Given the description of an element on the screen output the (x, y) to click on. 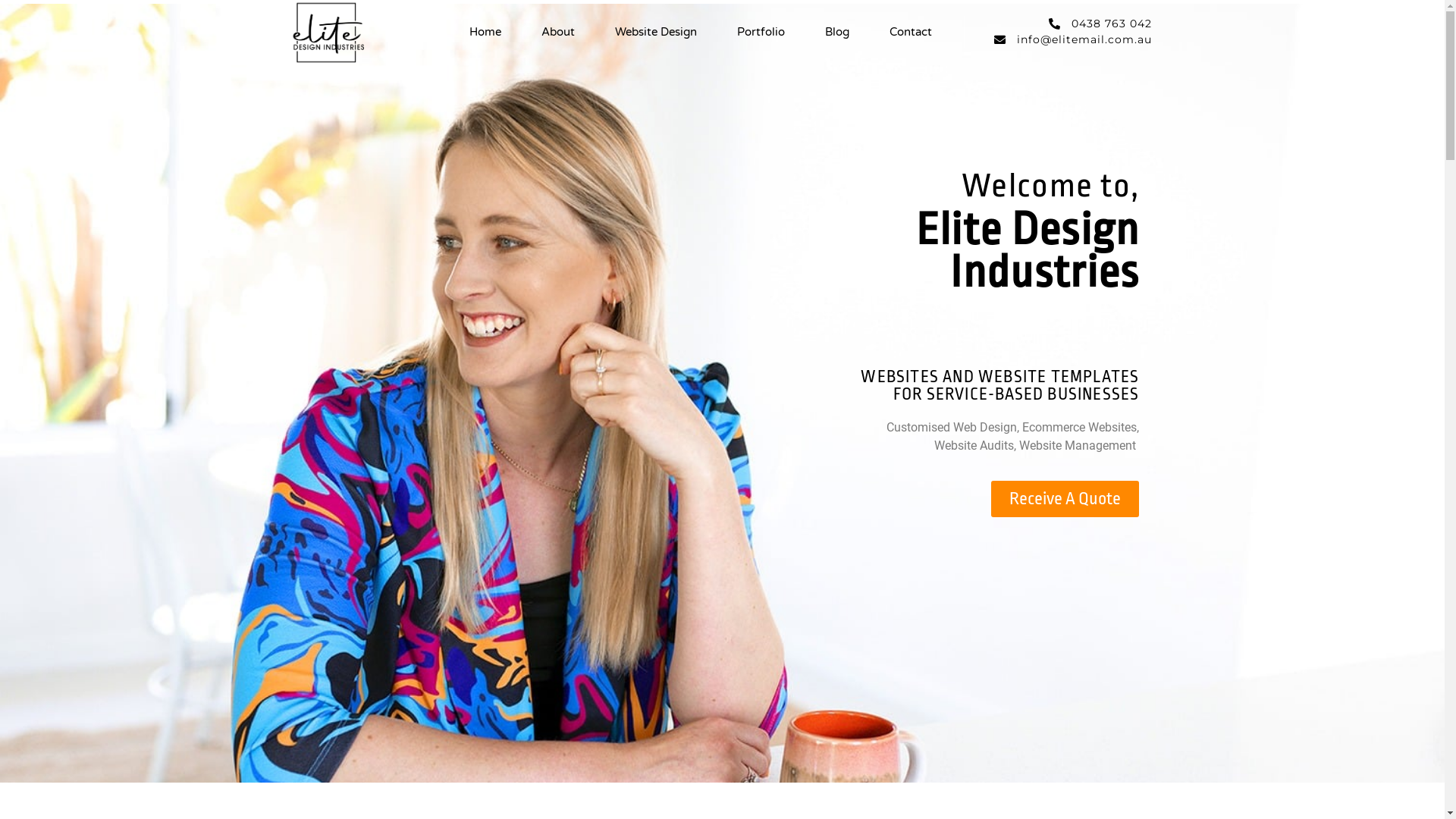
Home Element type: text (484, 31)
Contact Element type: text (910, 31)
Receive A Quote Element type: text (1065, 498)
About Element type: text (557, 31)
Website Design Element type: text (655, 31)
Portfolio Element type: text (760, 31)
Blog Element type: text (836, 31)
